Given the description of an element on the screen output the (x, y) to click on. 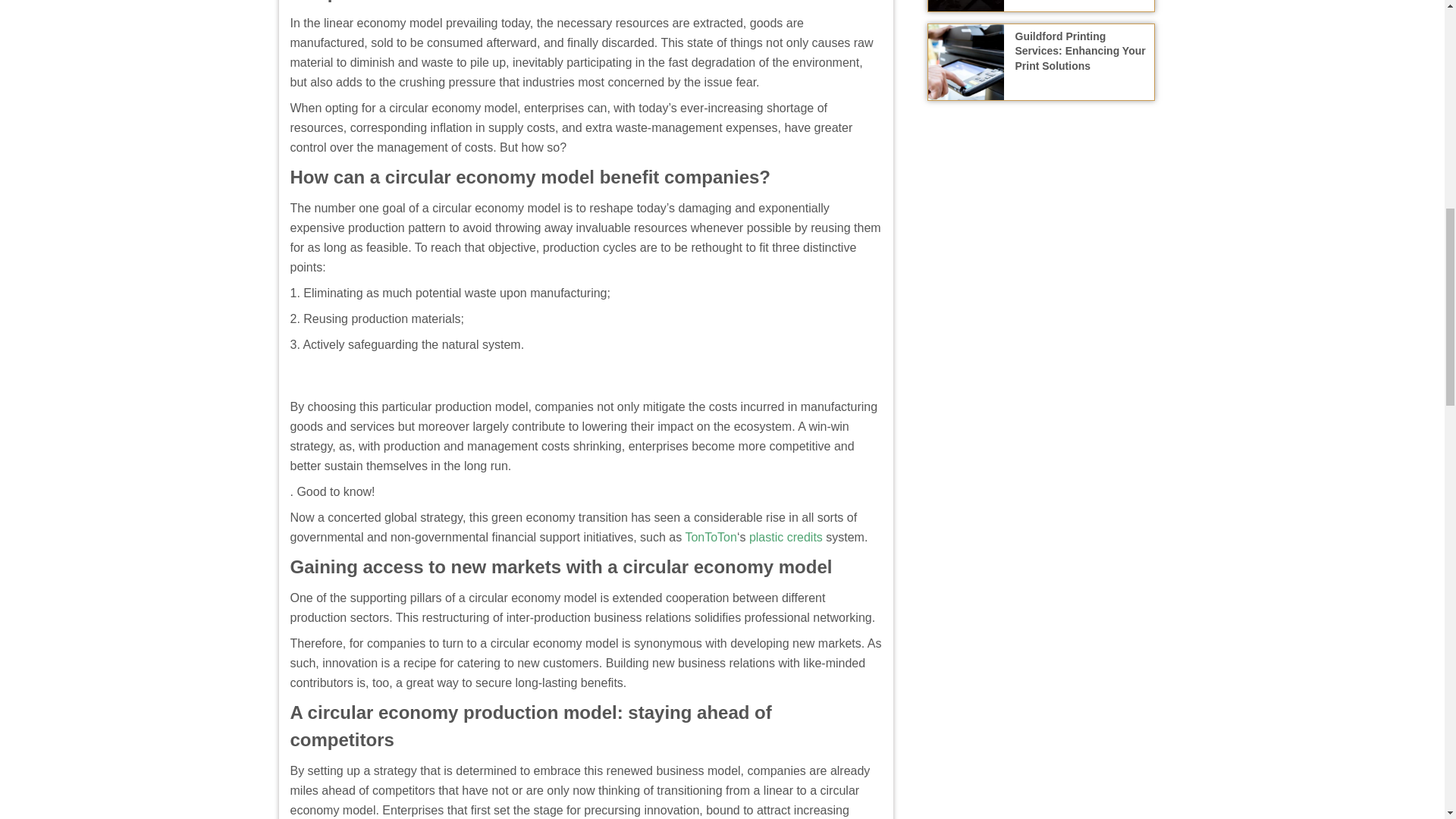
TonToTon (710, 536)
Guildford Printing Services: Enhancing Your Print Solutions (1079, 50)
plastic credits (785, 536)
